Given the description of an element on the screen output the (x, y) to click on. 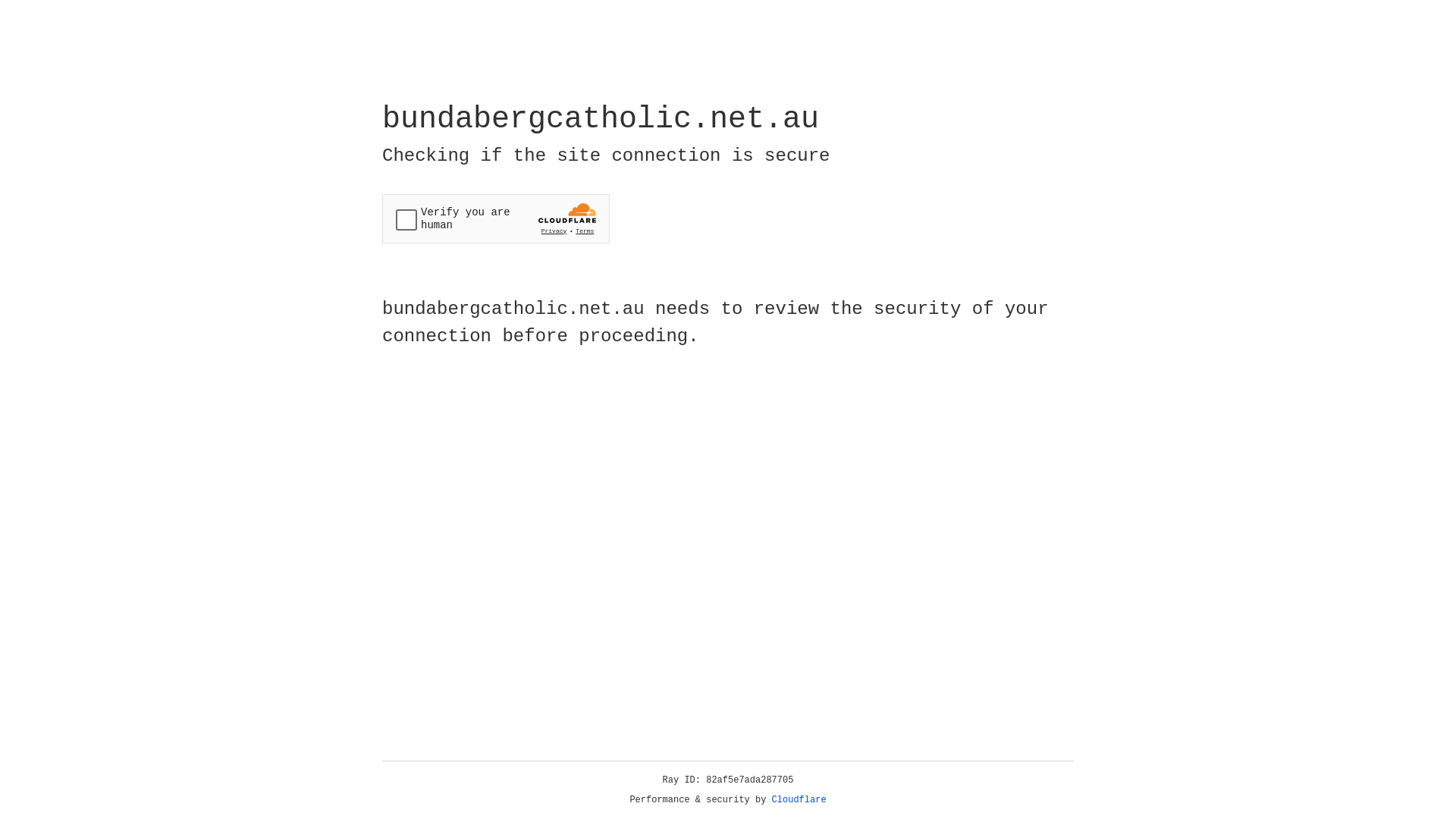
Cloudflare Element type: text (798, 799)
Widget containing a Cloudflare security challenge Element type: hover (495, 218)
